Given the description of an element on the screen output the (x, y) to click on. 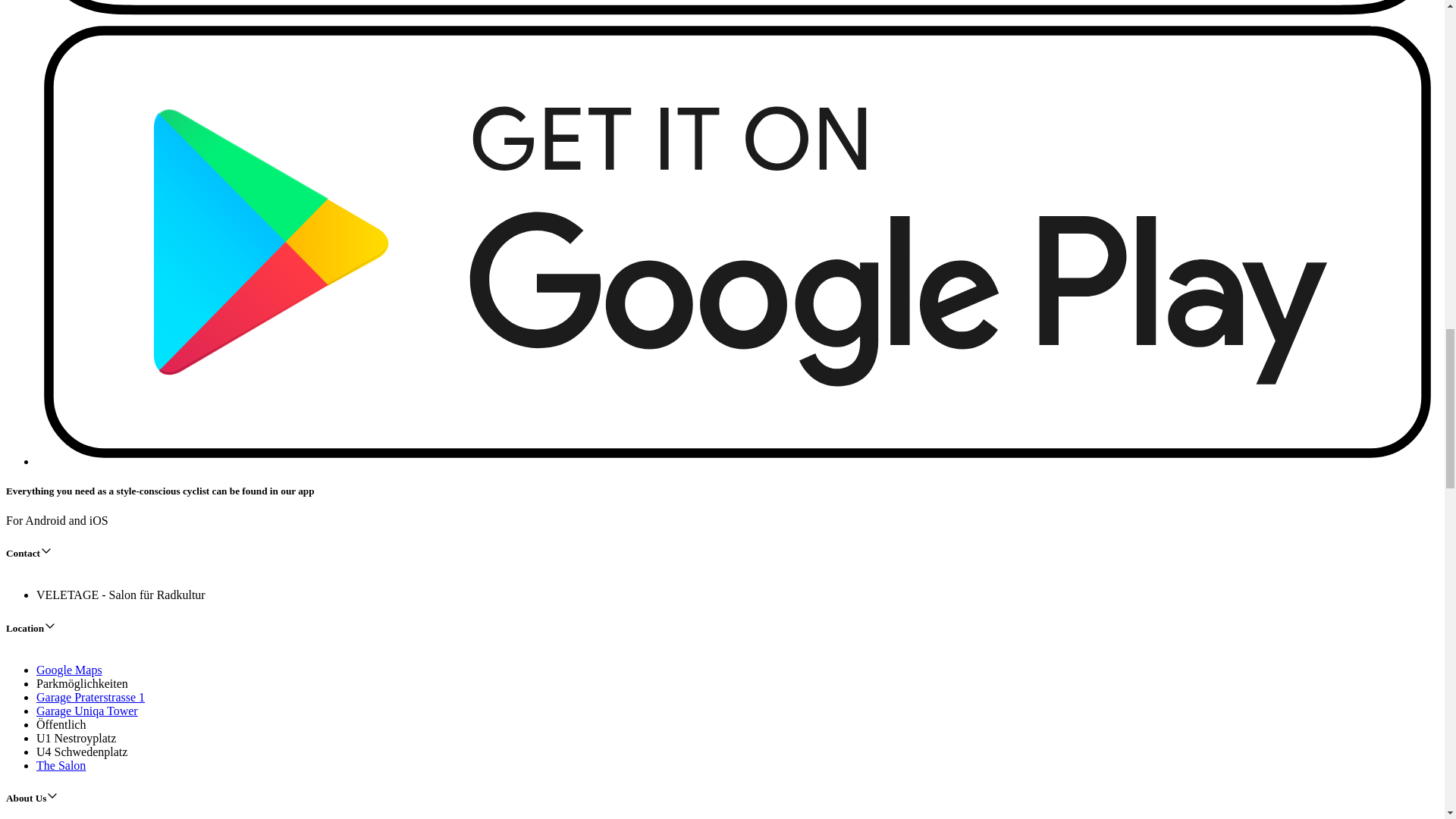
Google Maps (68, 669)
Garage Praterstrasse 1 (90, 697)
Garage Uniqa Tower (87, 710)
The Salon (60, 765)
